Given the description of an element on the screen output the (x, y) to click on. 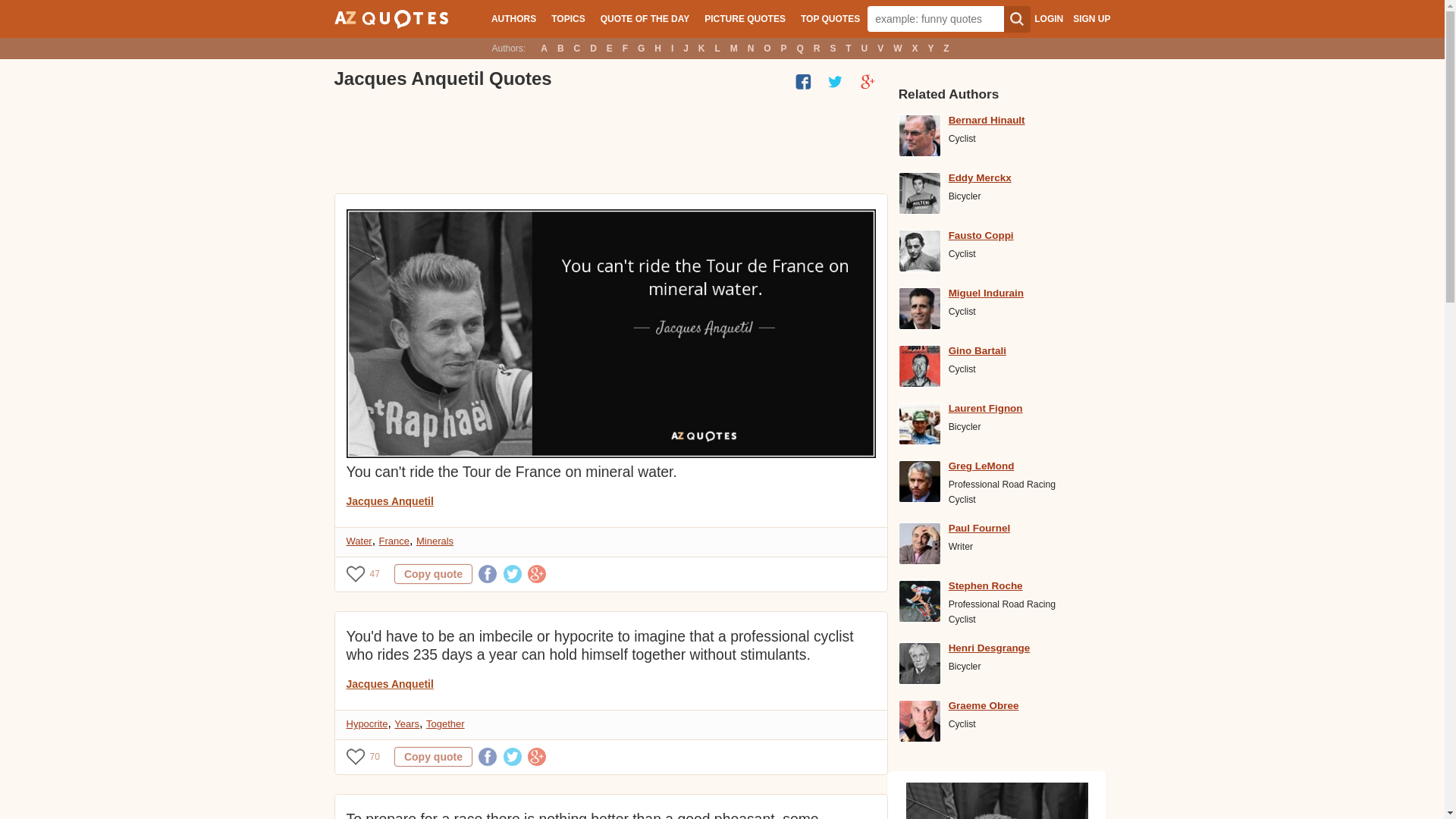
SIGN UP (1091, 18)
TOP QUOTES (830, 18)
TOPICS (567, 18)
LOGIN (1047, 18)
Advertisement (609, 143)
AUTHORS (513, 18)
PICTURE QUOTES (745, 18)
QUOTE OF THE DAY (644, 18)
